Given the description of an element on the screen output the (x, y) to click on. 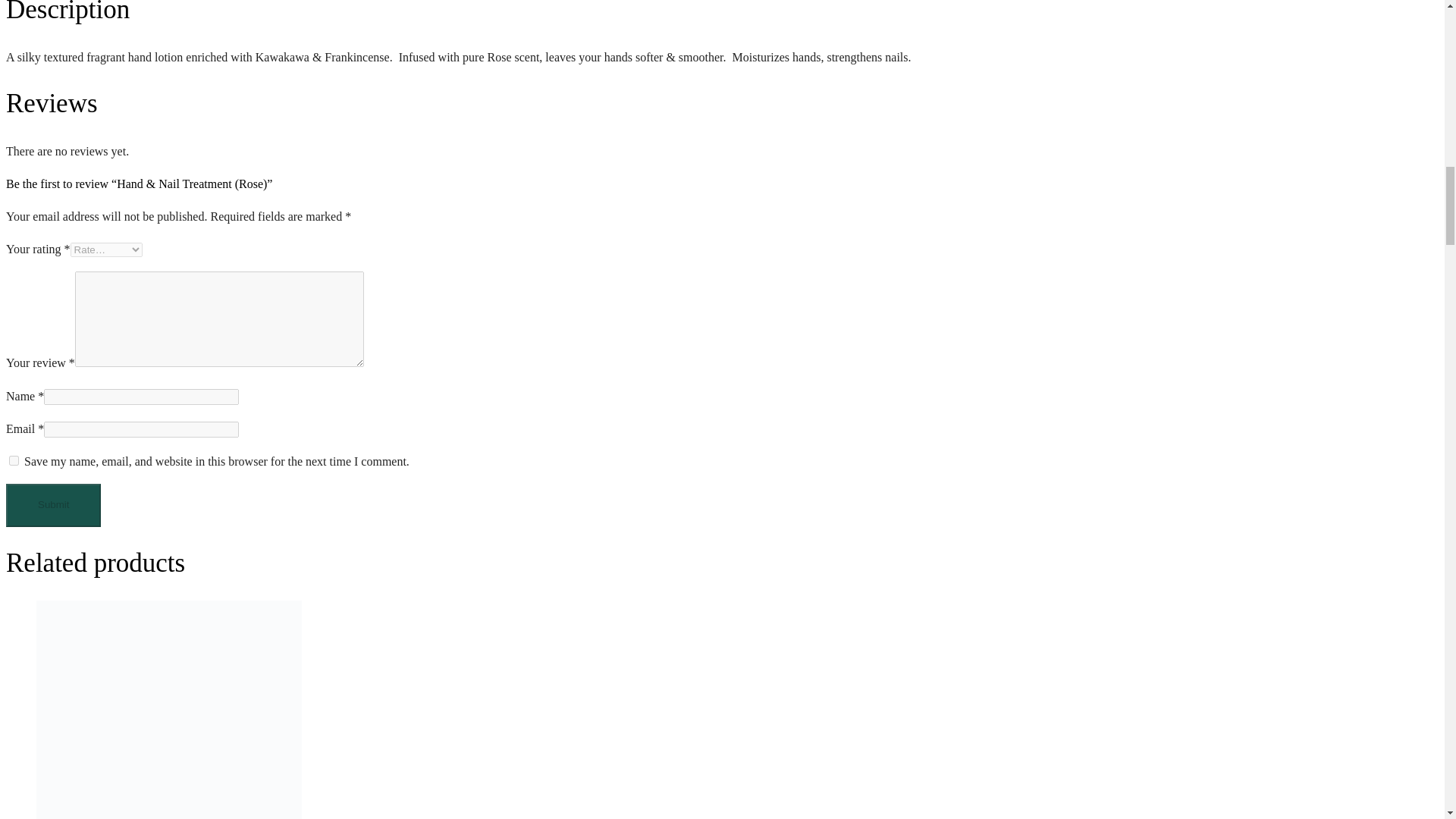
yes (13, 460)
Submit (52, 505)
Submit (52, 505)
